Given the description of an element on the screen output the (x, y) to click on. 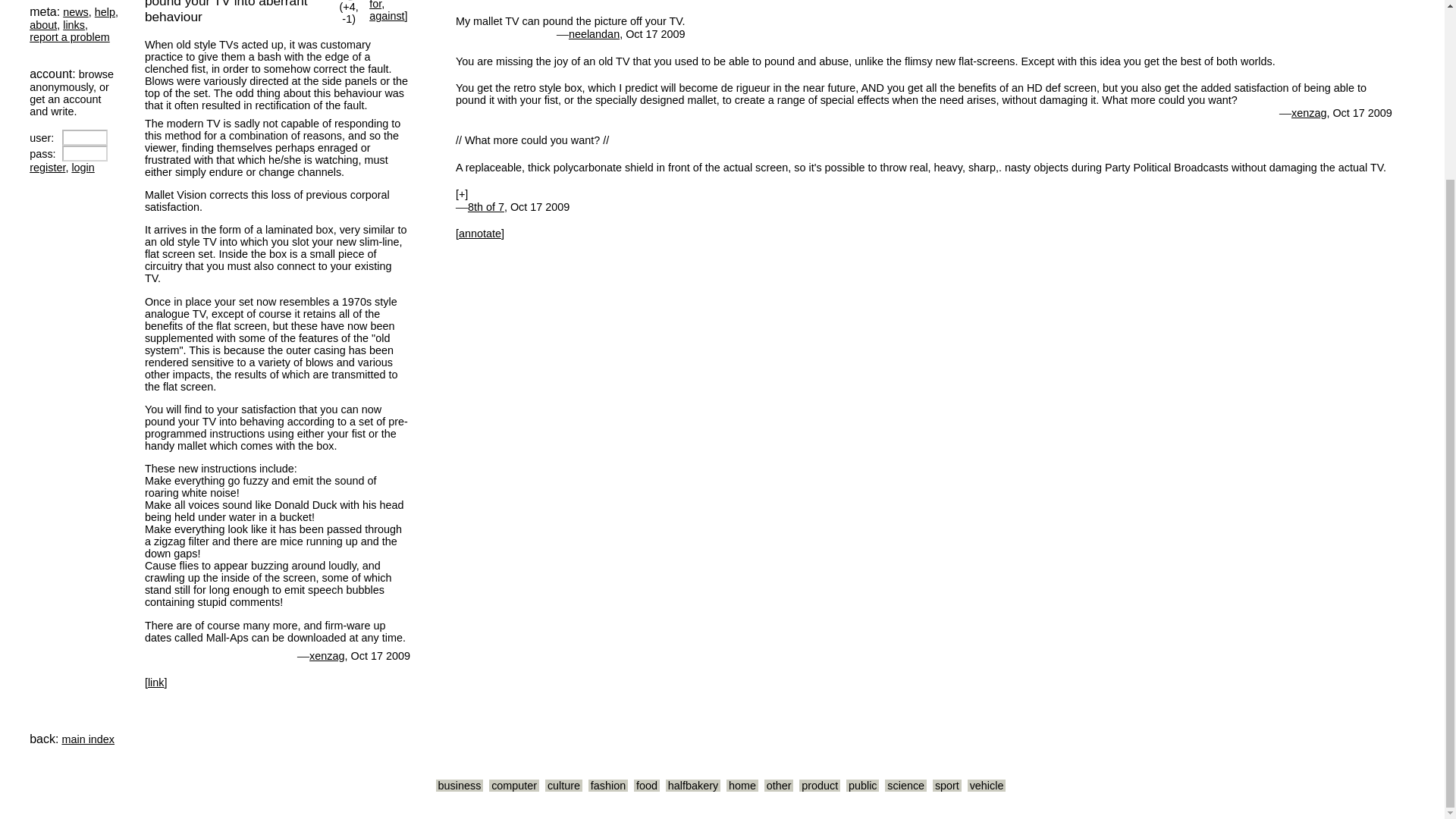
login (82, 167)
annotate (479, 233)
help (104, 11)
xenzag (1308, 112)
about (42, 24)
link (156, 682)
neelandan (594, 33)
news (75, 11)
against (386, 15)
links (73, 24)
